Given the description of an element on the screen output the (x, y) to click on. 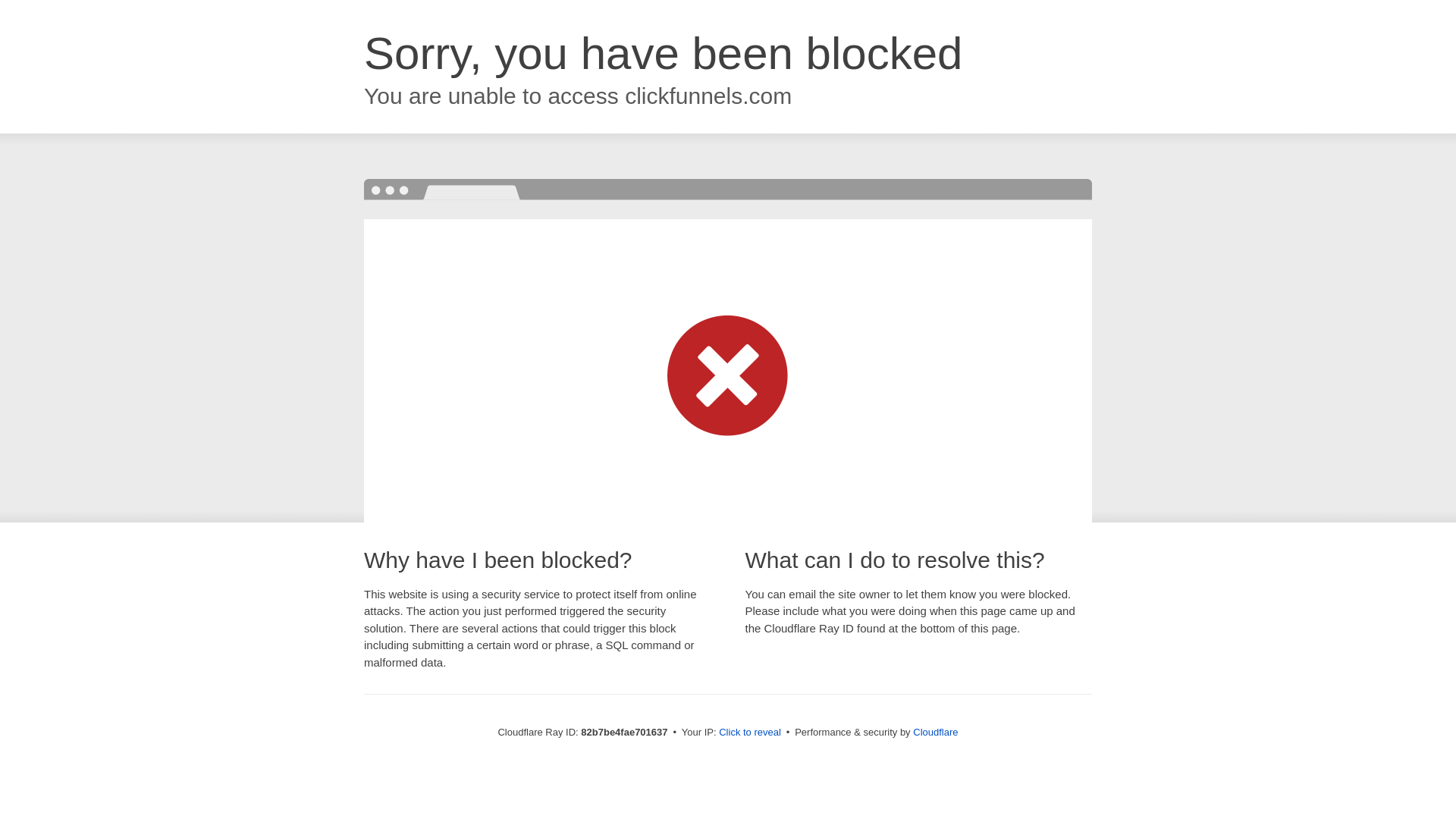
Click to reveal Element type: text (749, 732)
Cloudflare Element type: text (935, 731)
